Given the description of an element on the screen output the (x, y) to click on. 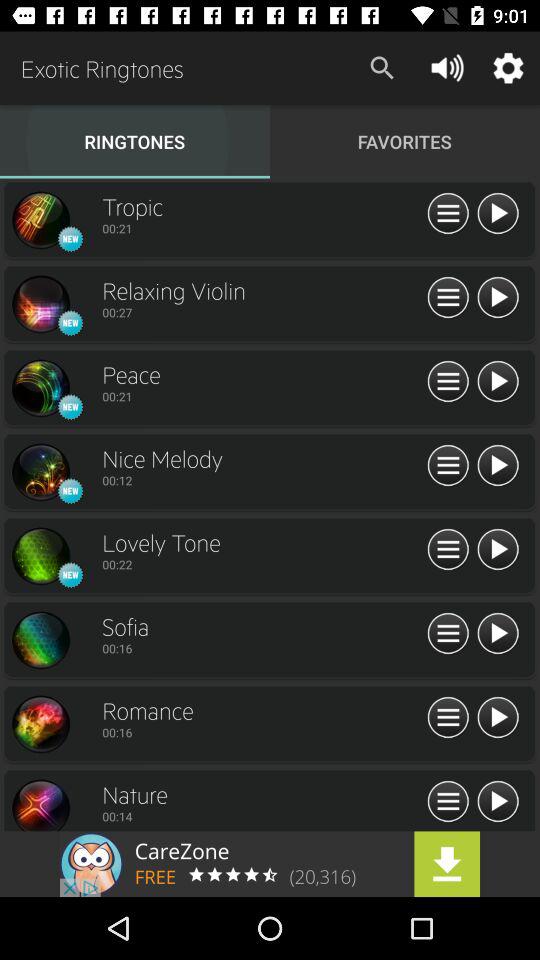
tropic options (447, 213)
